Given the description of an element on the screen output the (x, y) to click on. 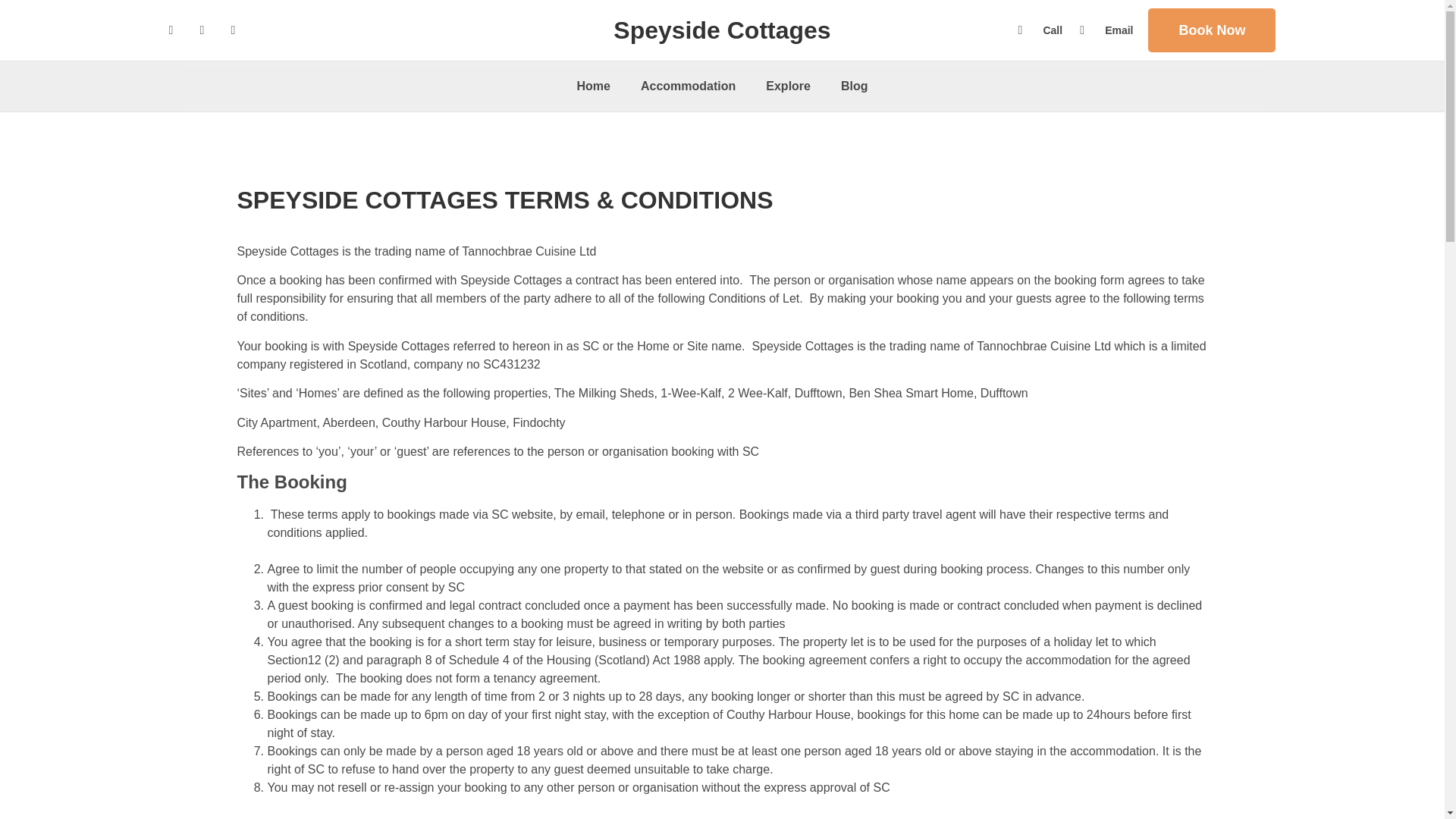
Call (1036, 30)
Accommodation (688, 86)
Email (1103, 30)
Home (592, 86)
Explore (788, 86)
Book Now (1211, 30)
Blog (854, 86)
Speyside Cottages (720, 30)
